Given the description of an element on the screen output the (x, y) to click on. 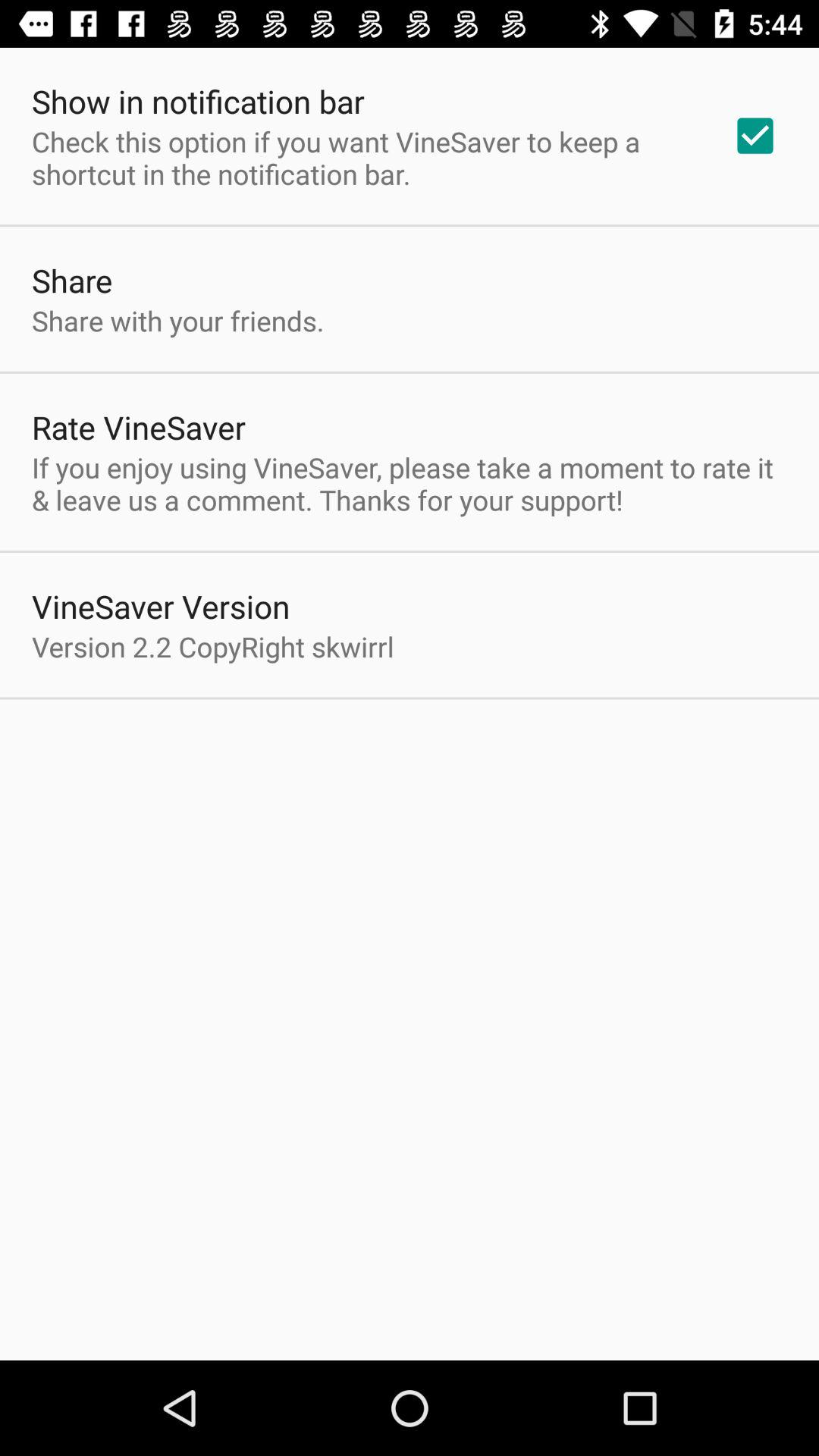
choose the app to the right of check this option (755, 135)
